Given the description of an element on the screen output the (x, y) to click on. 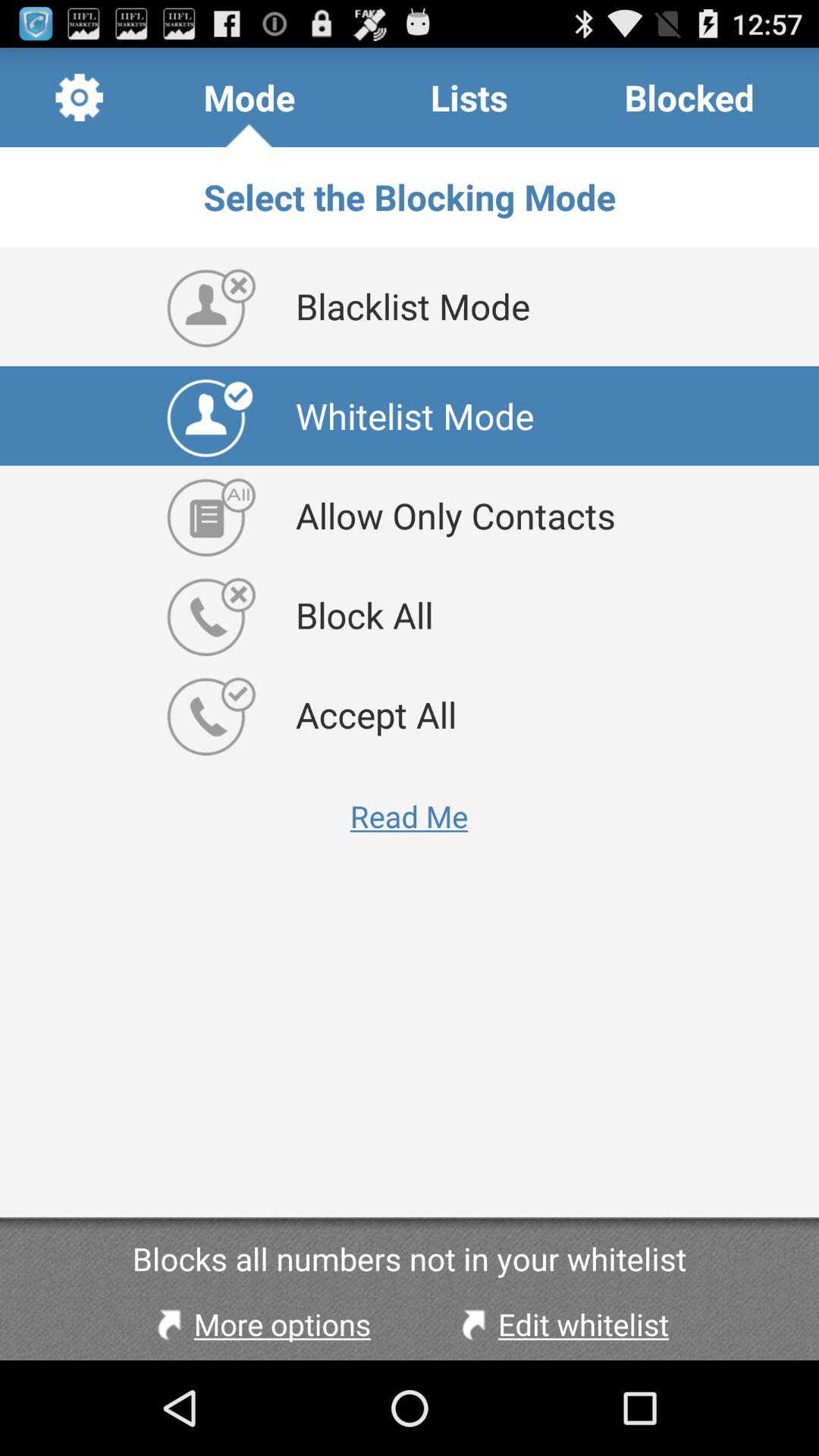
click item next to mode icon (79, 97)
